Given the description of an element on the screen output the (x, y) to click on. 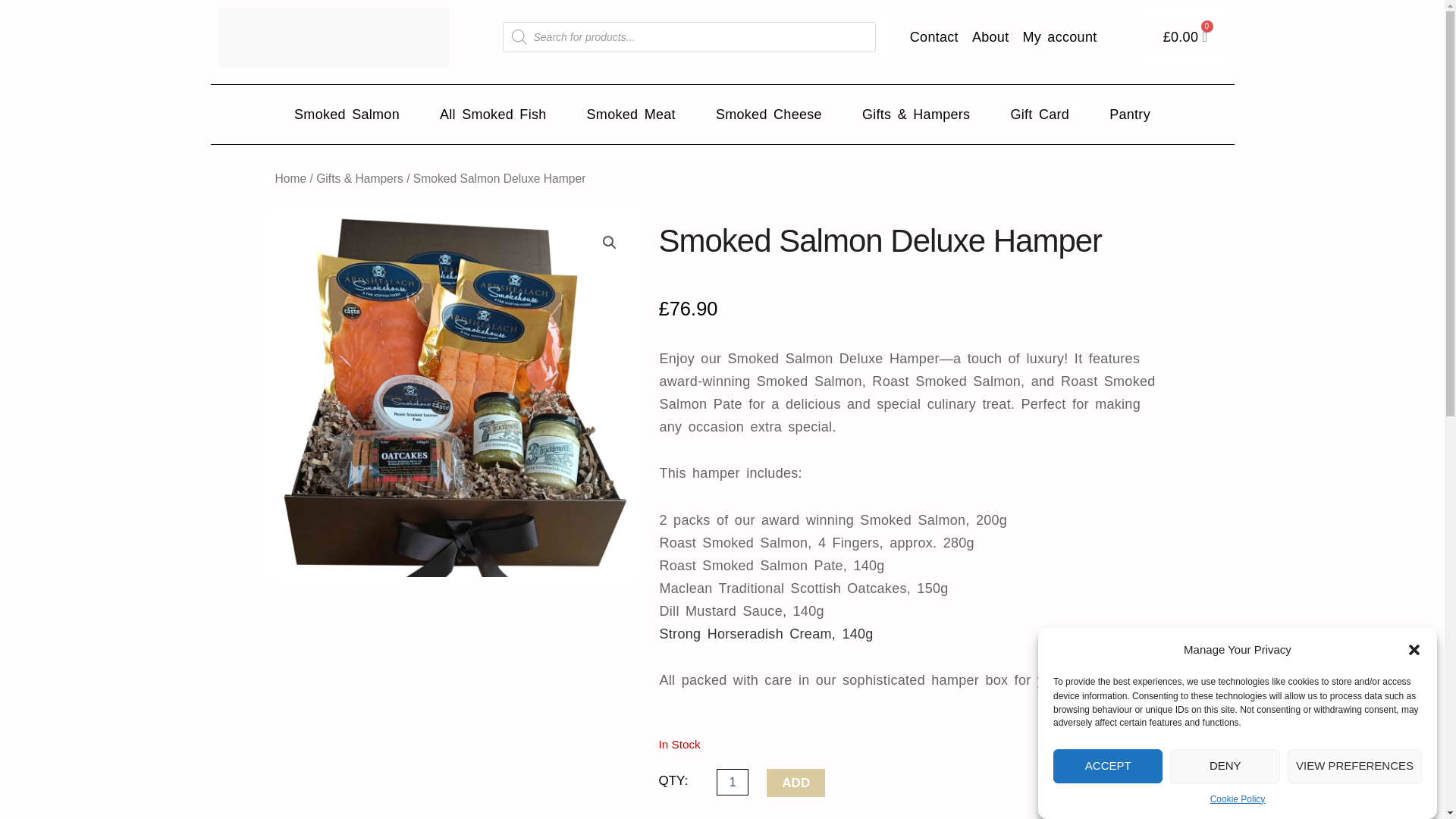
Contact (933, 36)
1 (732, 782)
Smoked Cheese (768, 114)
Smoked Salmon (347, 114)
Pantry (1129, 114)
All Smoked Fish (493, 114)
About (990, 36)
Gift Card (1039, 114)
Smoked Meat (631, 114)
My account (1058, 36)
